Given the description of an element on the screen output the (x, y) to click on. 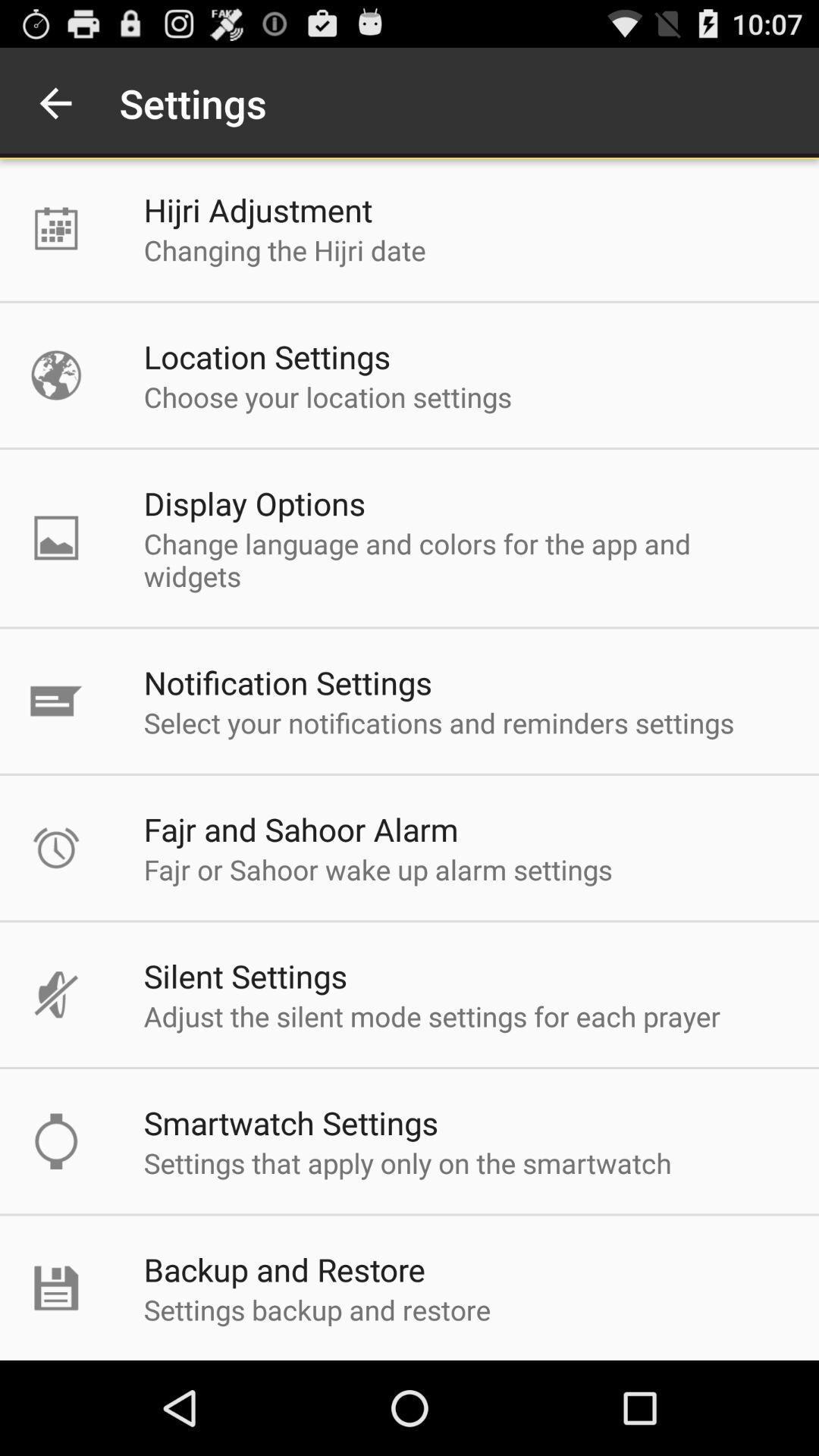
choose the icon above the change language and icon (254, 502)
